Given the description of an element on the screen output the (x, y) to click on. 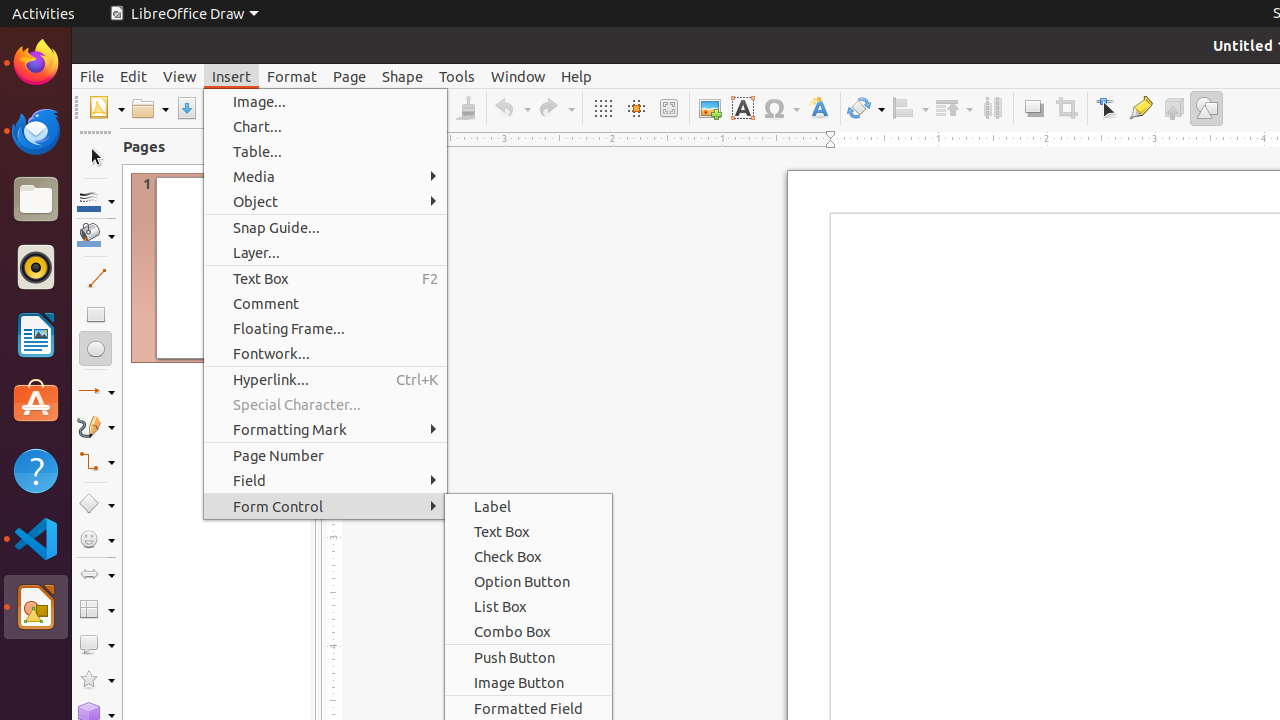
Field Element type: menu (325, 480)
Undo Element type: push-button (512, 108)
Helplines While Moving Element type: toggle-button (635, 108)
Grid Element type: toggle-button (602, 108)
